Given the description of an element on the screen output the (x, y) to click on. 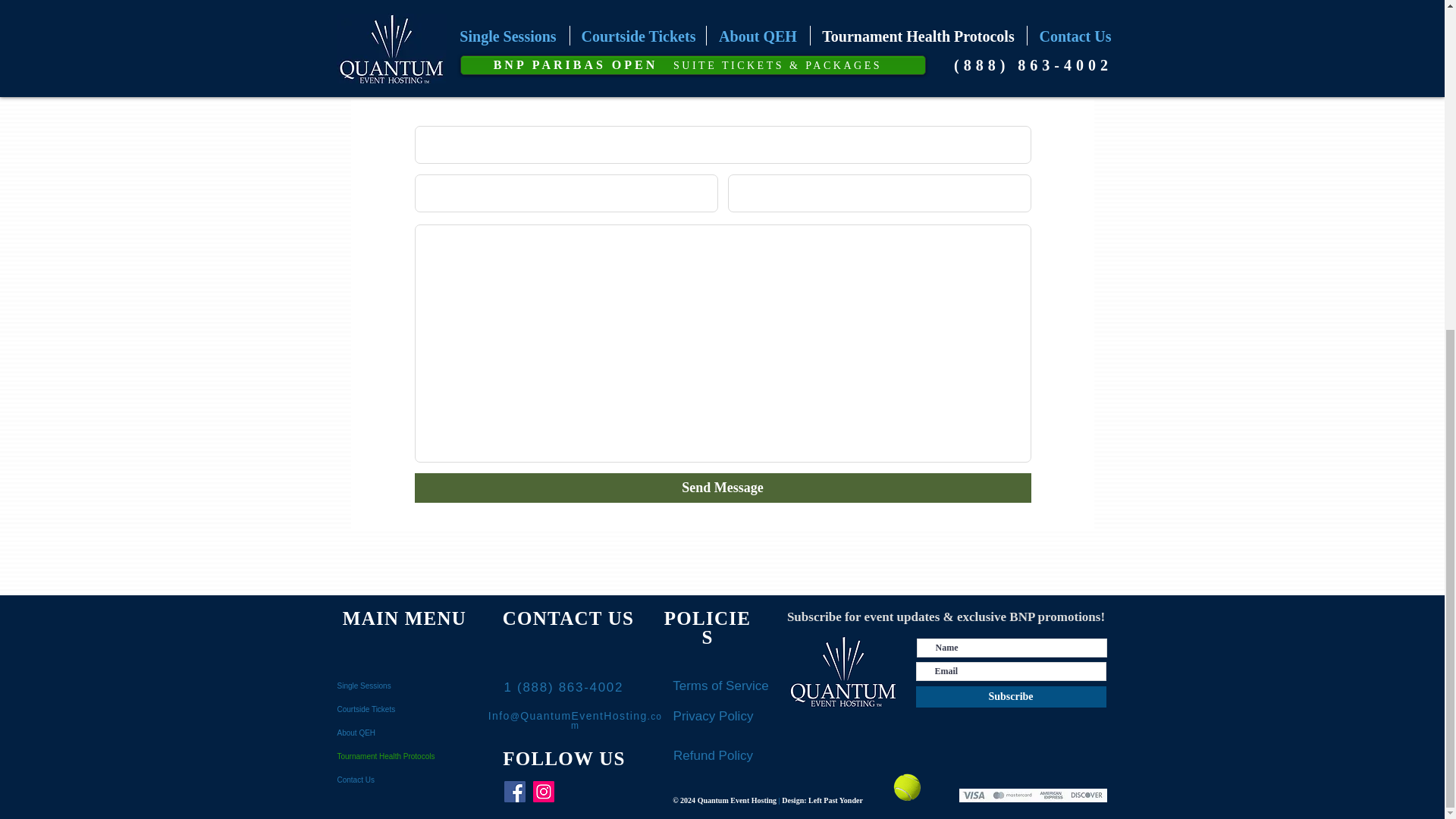
Contact Us (403, 779)
Terms of Service (720, 685)
Refund Policy (713, 755)
Subscribe (1010, 696)
Courtside Tickets (403, 709)
Single Sessions (403, 685)
Design: Left Past Yonder (822, 800)
Send Message (721, 487)
About QEH (403, 732)
Quantum Event Hosting (737, 800)
Tournament Health Protocols (403, 756)
Privacy Policy (713, 716)
